Given the description of an element on the screen output the (x, y) to click on. 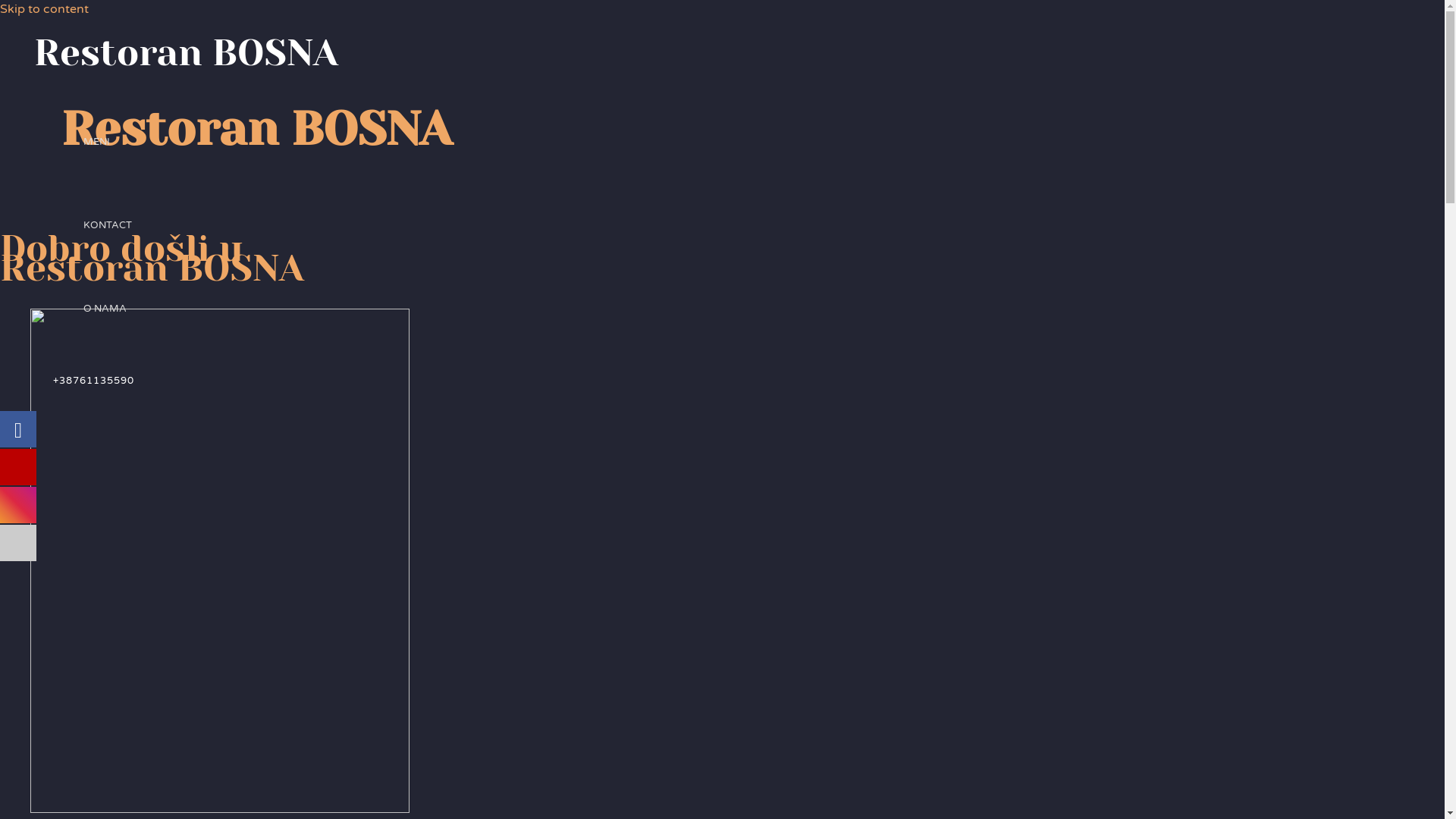
+38761135590 Element type: text (93, 381)
MENI Element type: text (107, 141)
Skip to content Element type: text (44, 8)
KONTACT Element type: text (107, 224)
O NAMA Element type: text (107, 308)
Restoran BOSNA Element type: text (186, 52)
